Given the description of an element on the screen output the (x, y) to click on. 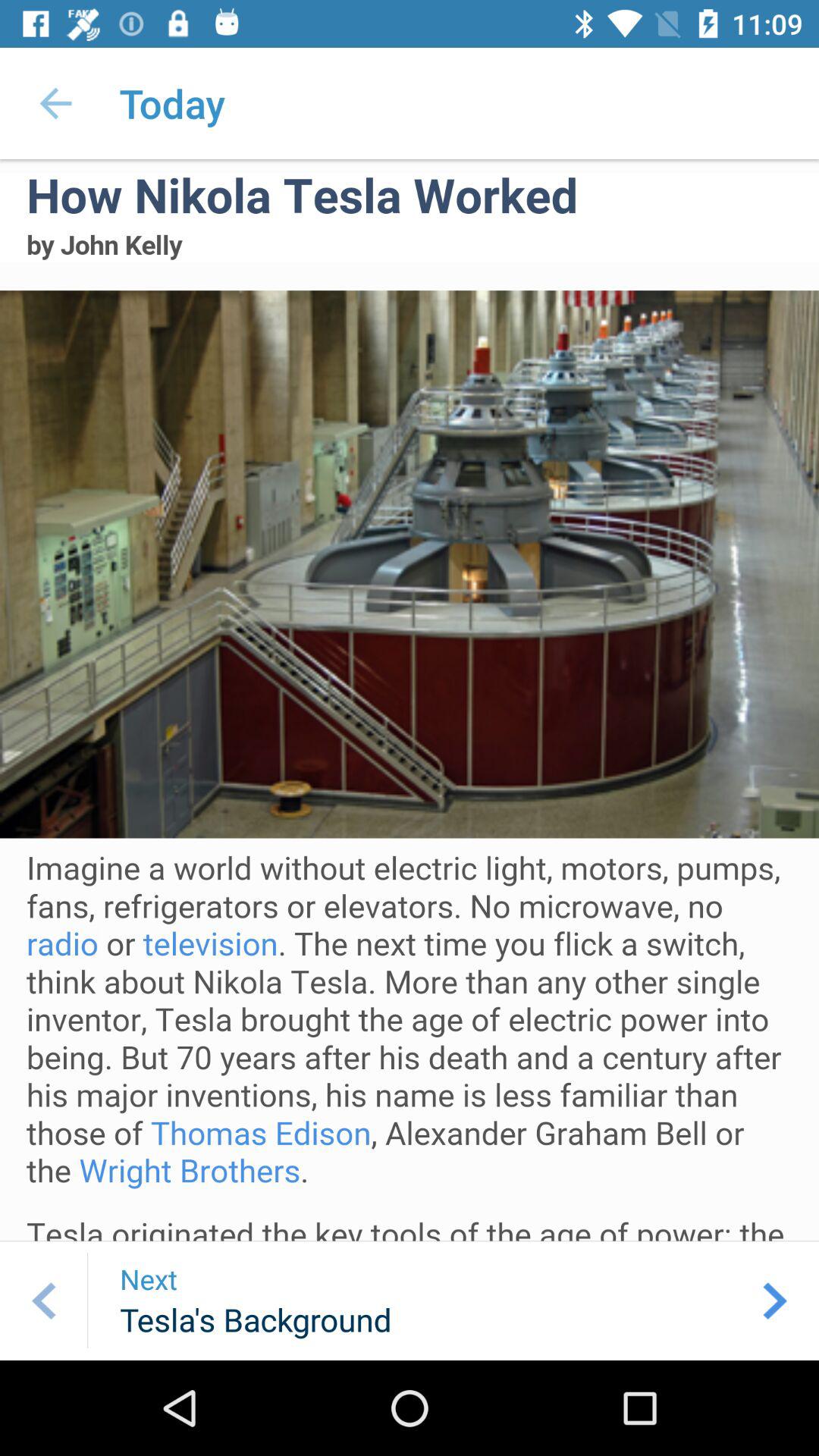
view next (775, 1300)
